Given the description of an element on the screen output the (x, y) to click on. 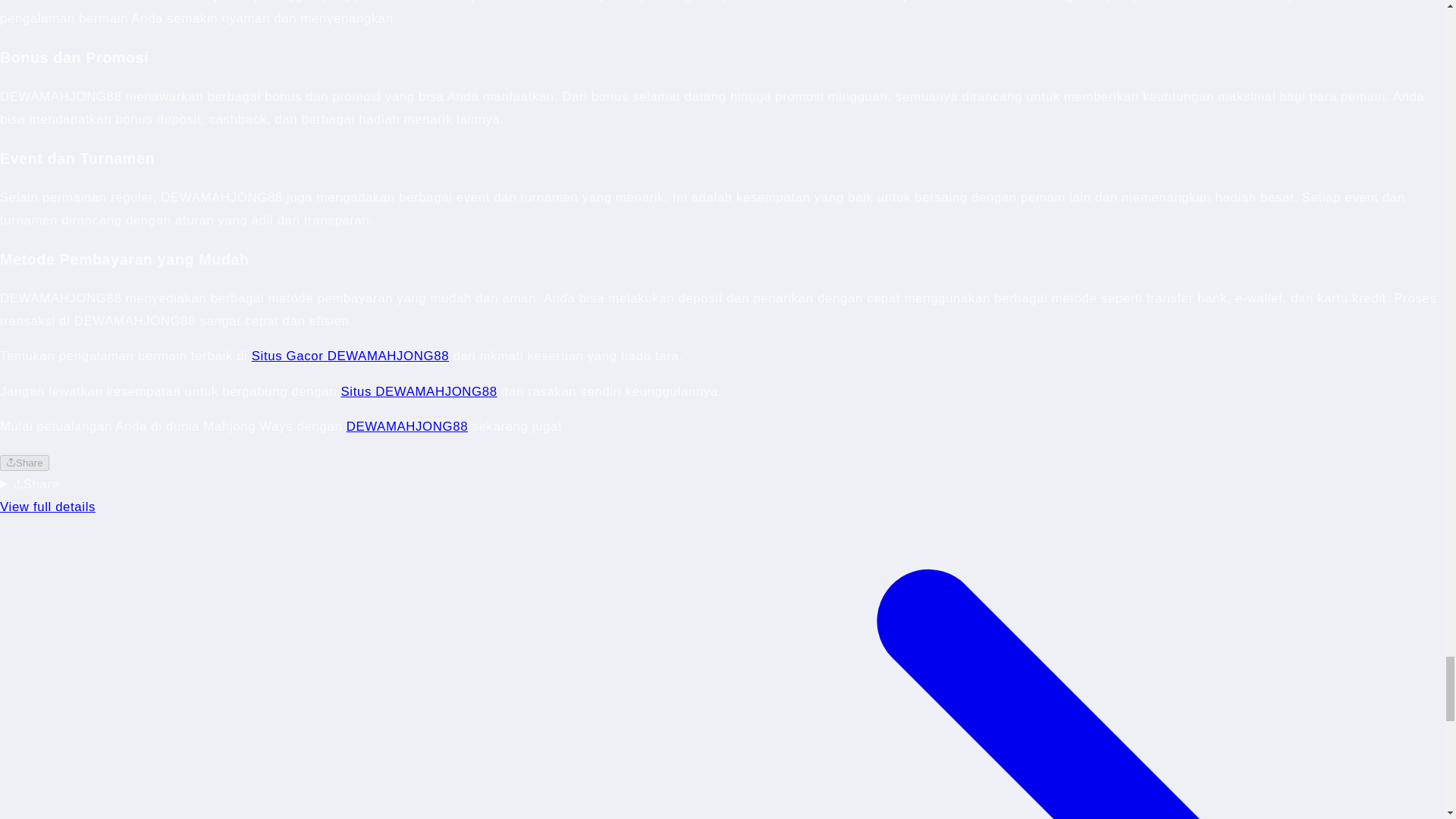
Situs Gacor DEWAMAHJONG88 (349, 355)
Share (24, 462)
DEWAMAHJONG88 (406, 426)
Situs DEWAMAHJONG88 (418, 391)
